Given the description of an element on the screen output the (x, y) to click on. 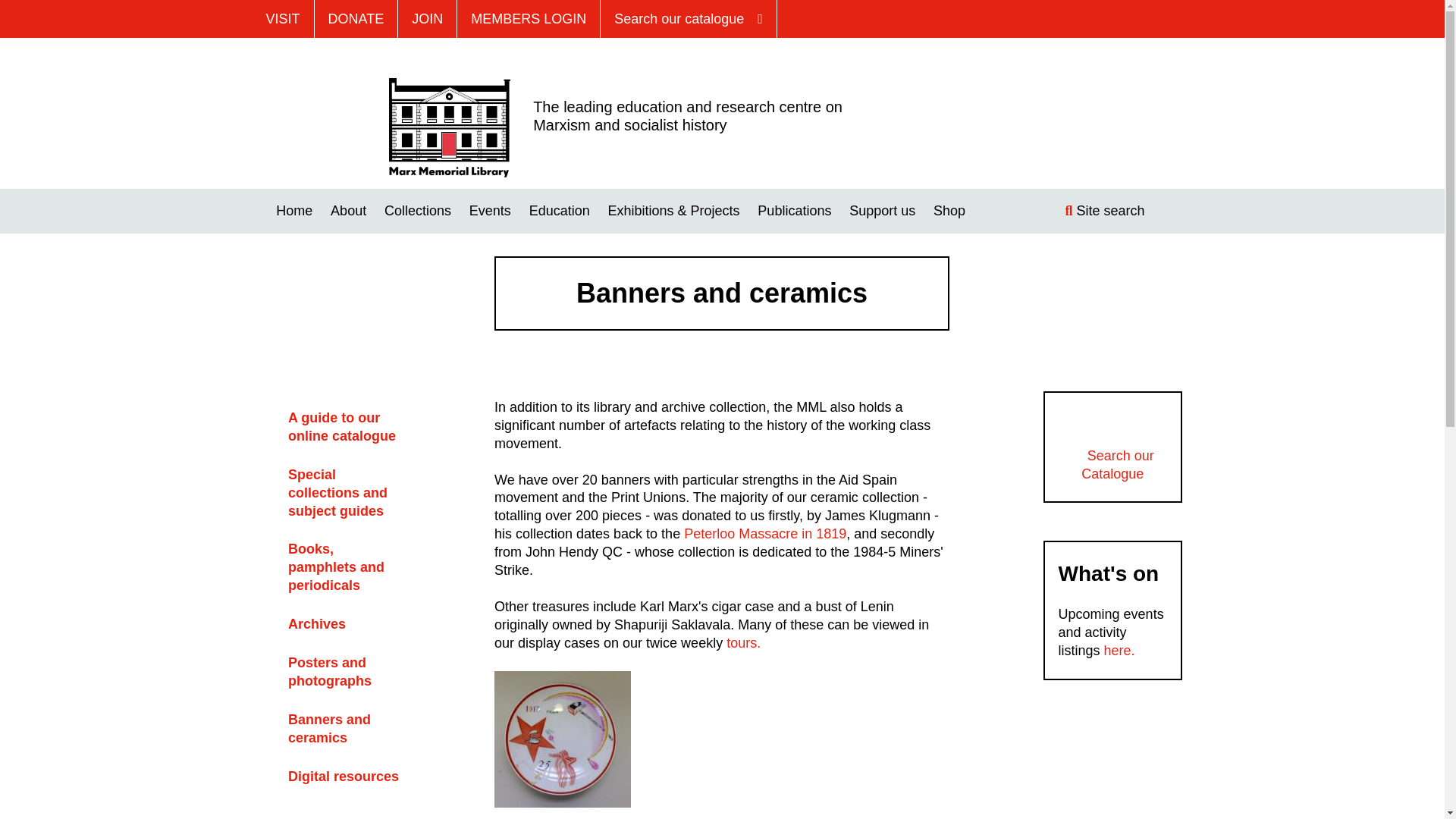
Search our Catalogue (1112, 464)
Archives (317, 623)
Posters and photographs (329, 671)
here. (1119, 650)
Home (294, 210)
Shop (949, 210)
Home (449, 126)
MEMBERS LOGIN (528, 18)
Publications (794, 210)
JOIN (427, 18)
Search our catalogue (688, 18)
Events (489, 210)
tours. (743, 642)
Digital resources (343, 776)
Books, pamphlets and periodicals (336, 566)
